Given the description of an element on the screen output the (x, y) to click on. 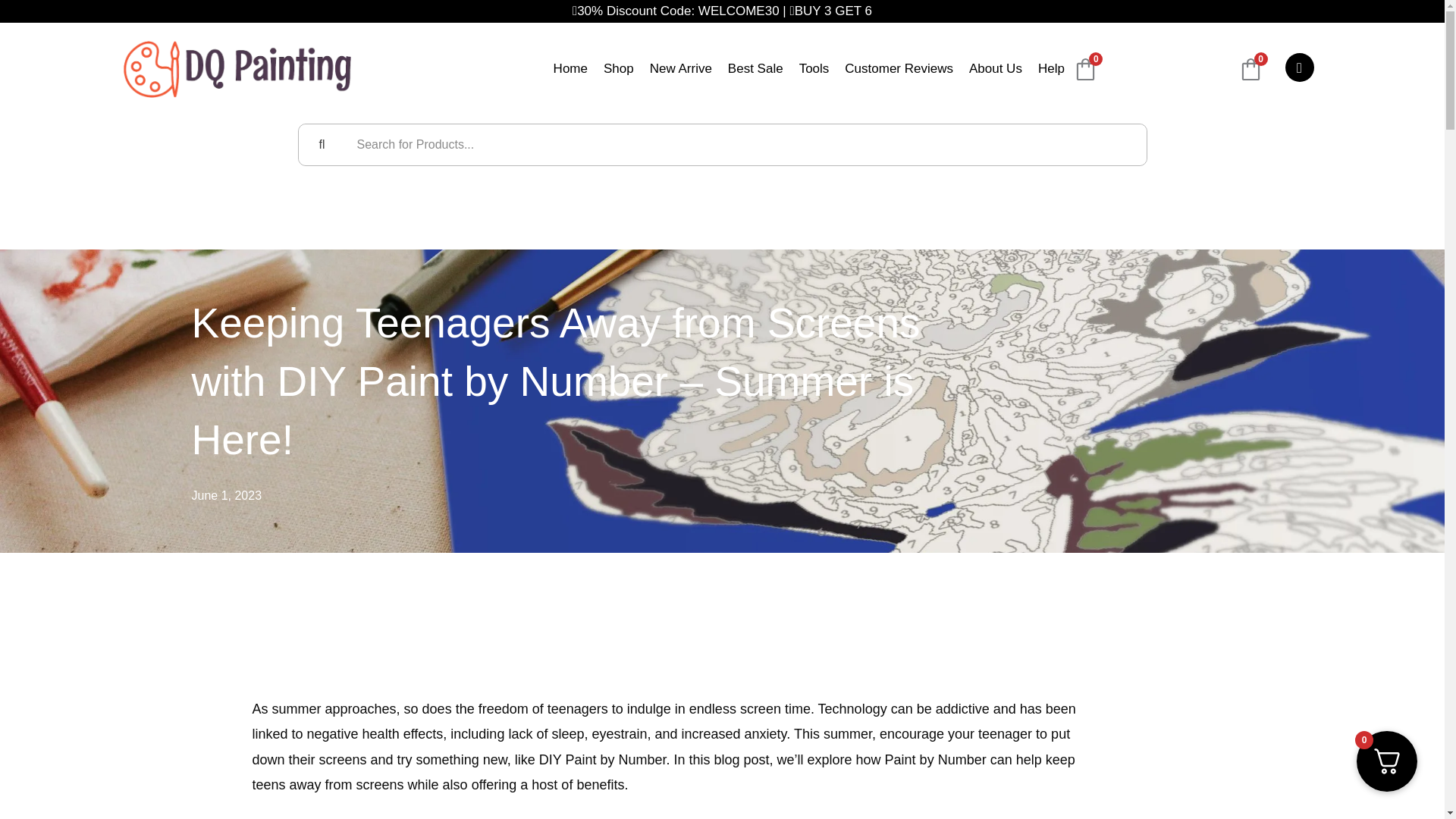
Tools (814, 69)
Customer Reviews (898, 69)
Best Sale (755, 69)
New Arrive (680, 69)
About Us (995, 69)
Home (570, 69)
Shop (618, 69)
Help (1051, 69)
